Given the description of an element on the screen output the (x, y) to click on. 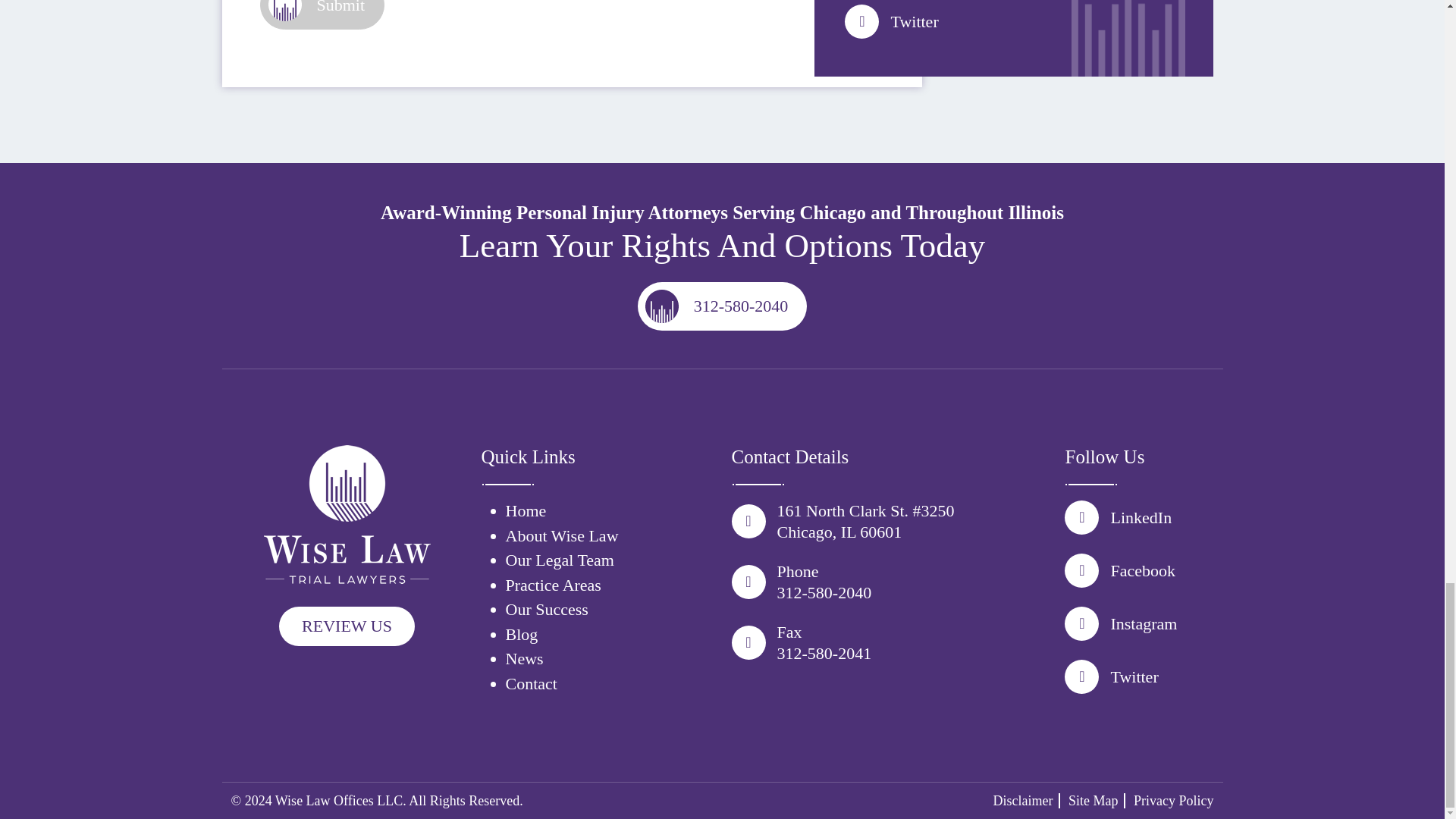
Submit (321, 14)
